Given the description of an element on the screen output the (x, y) to click on. 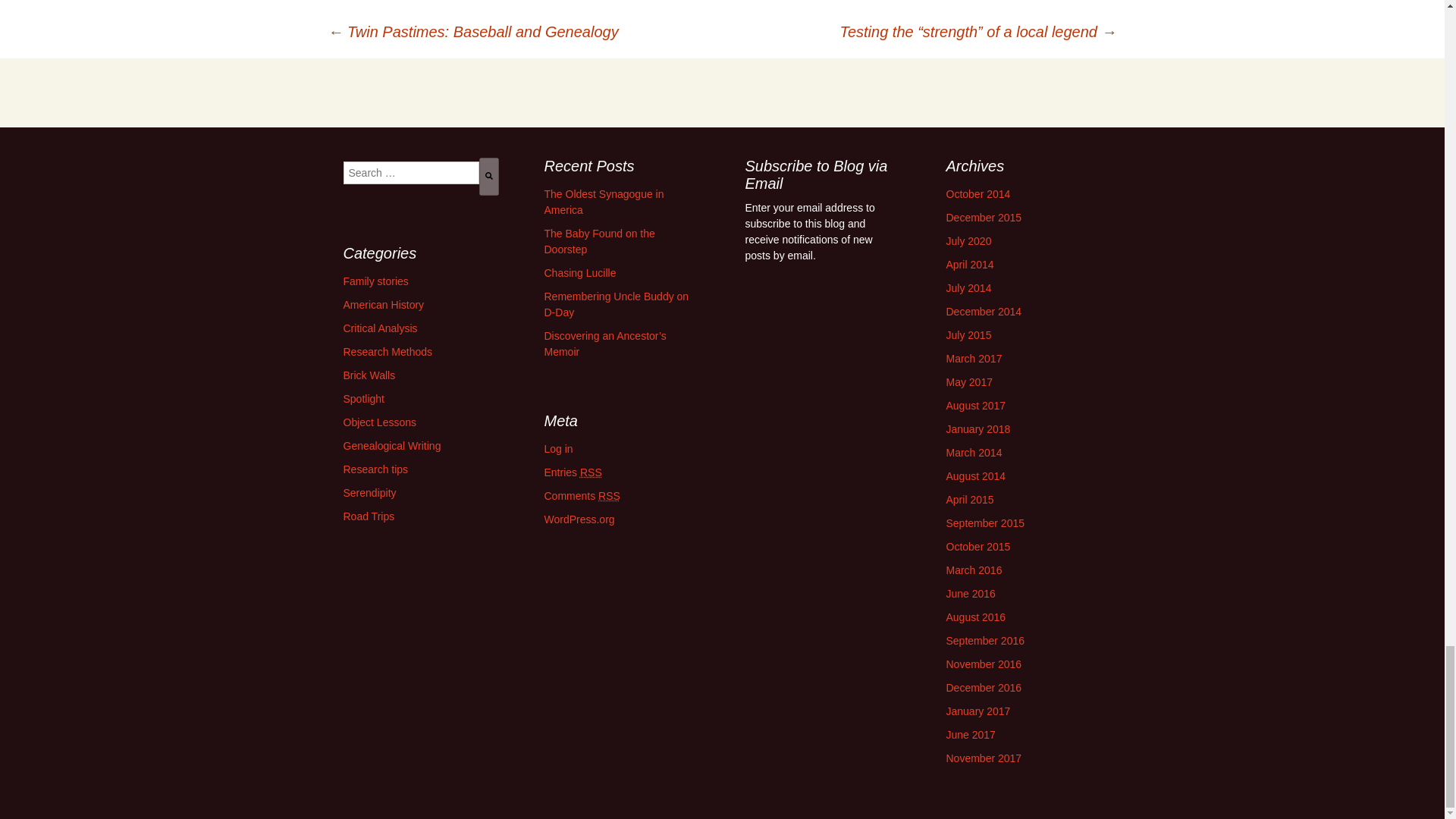
Really Simple Syndication (609, 495)
Really Simple Syndication (590, 472)
